Given the description of an element on the screen output the (x, y) to click on. 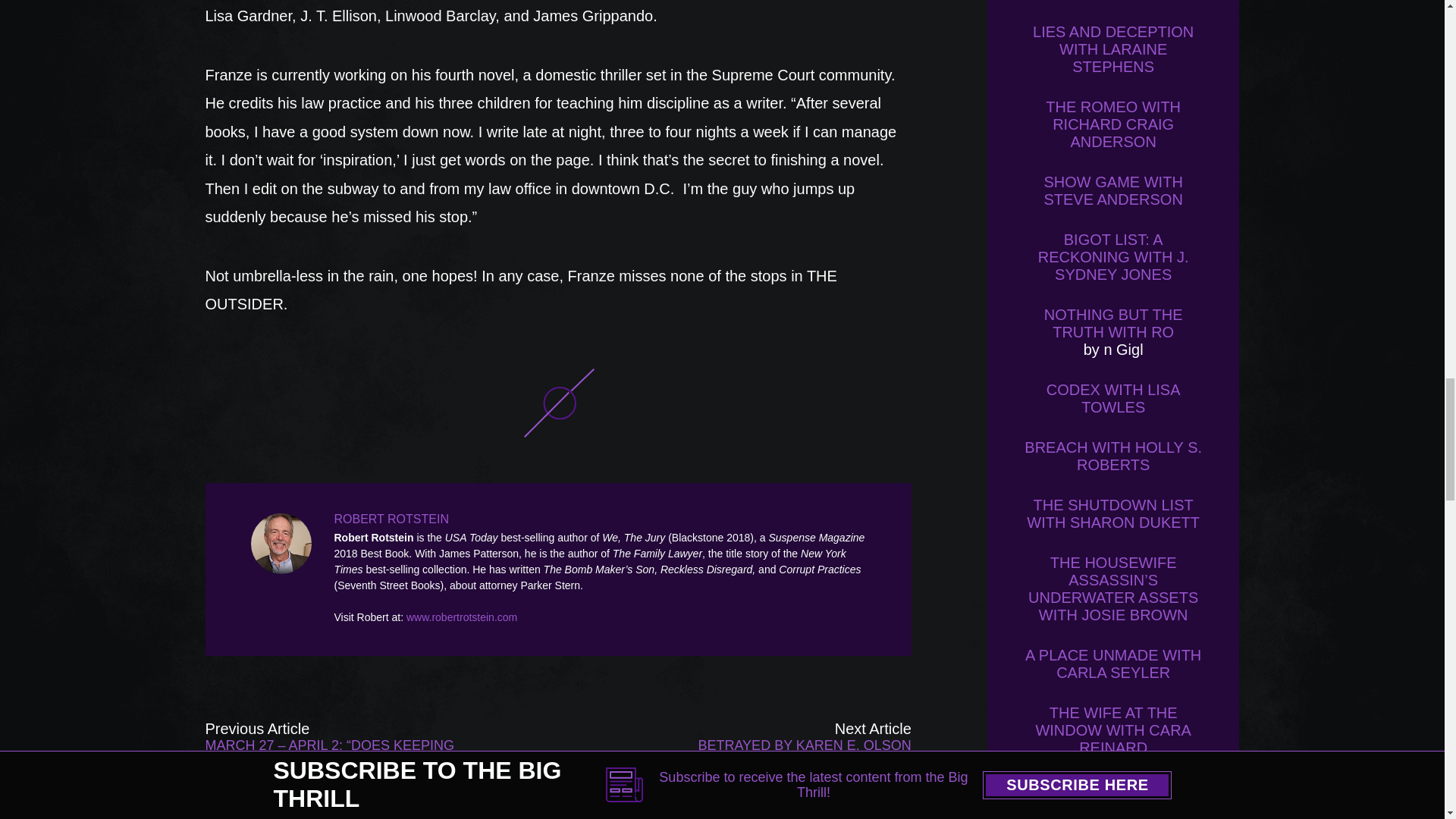
Betrayed by Karen E. Olson (769, 744)
Robert Rotstein (284, 543)
